Given the description of an element on the screen output the (x, y) to click on. 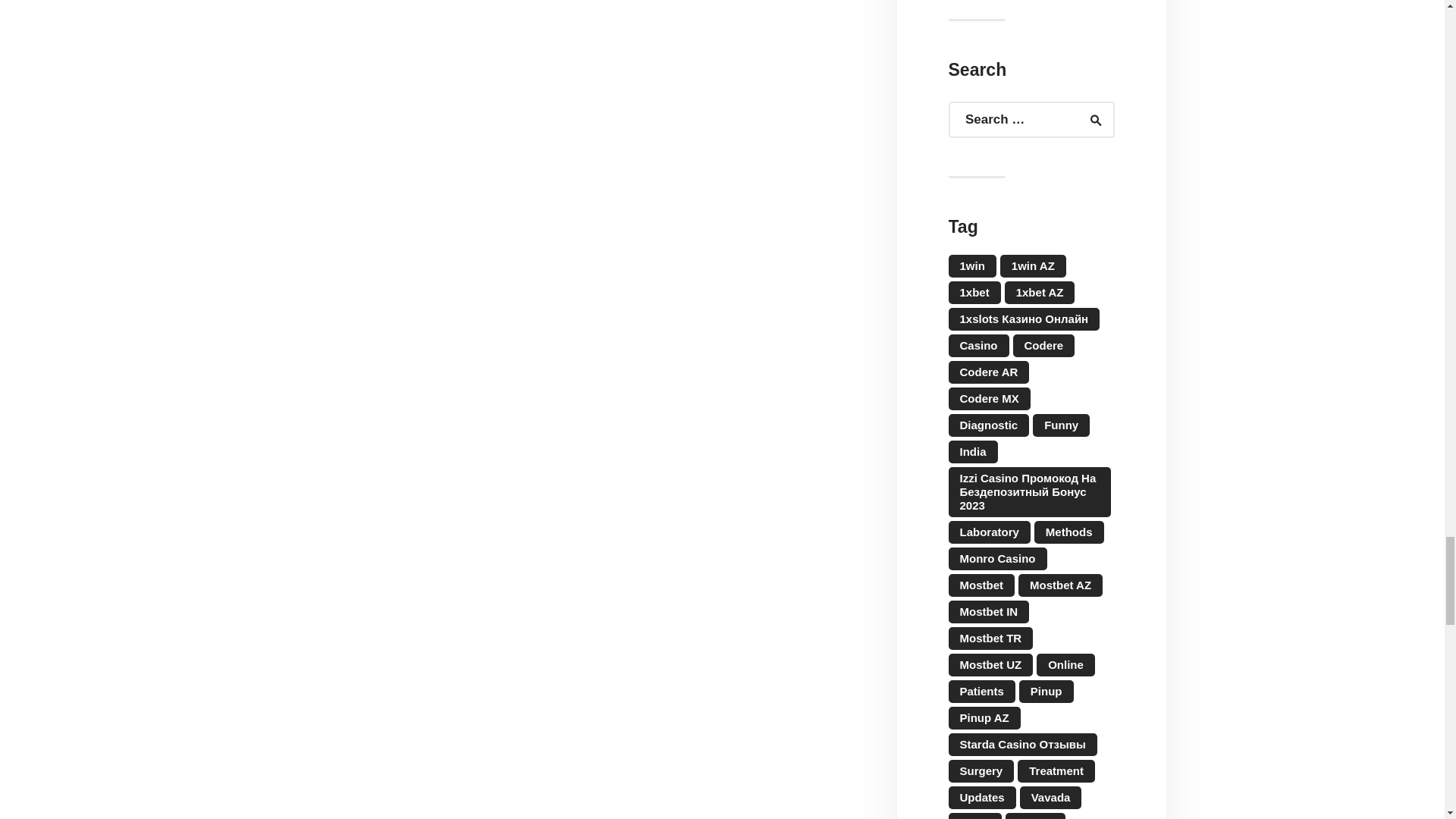
Search (1088, 119)
Search (1088, 119)
